Given the description of an element on the screen output the (x, y) to click on. 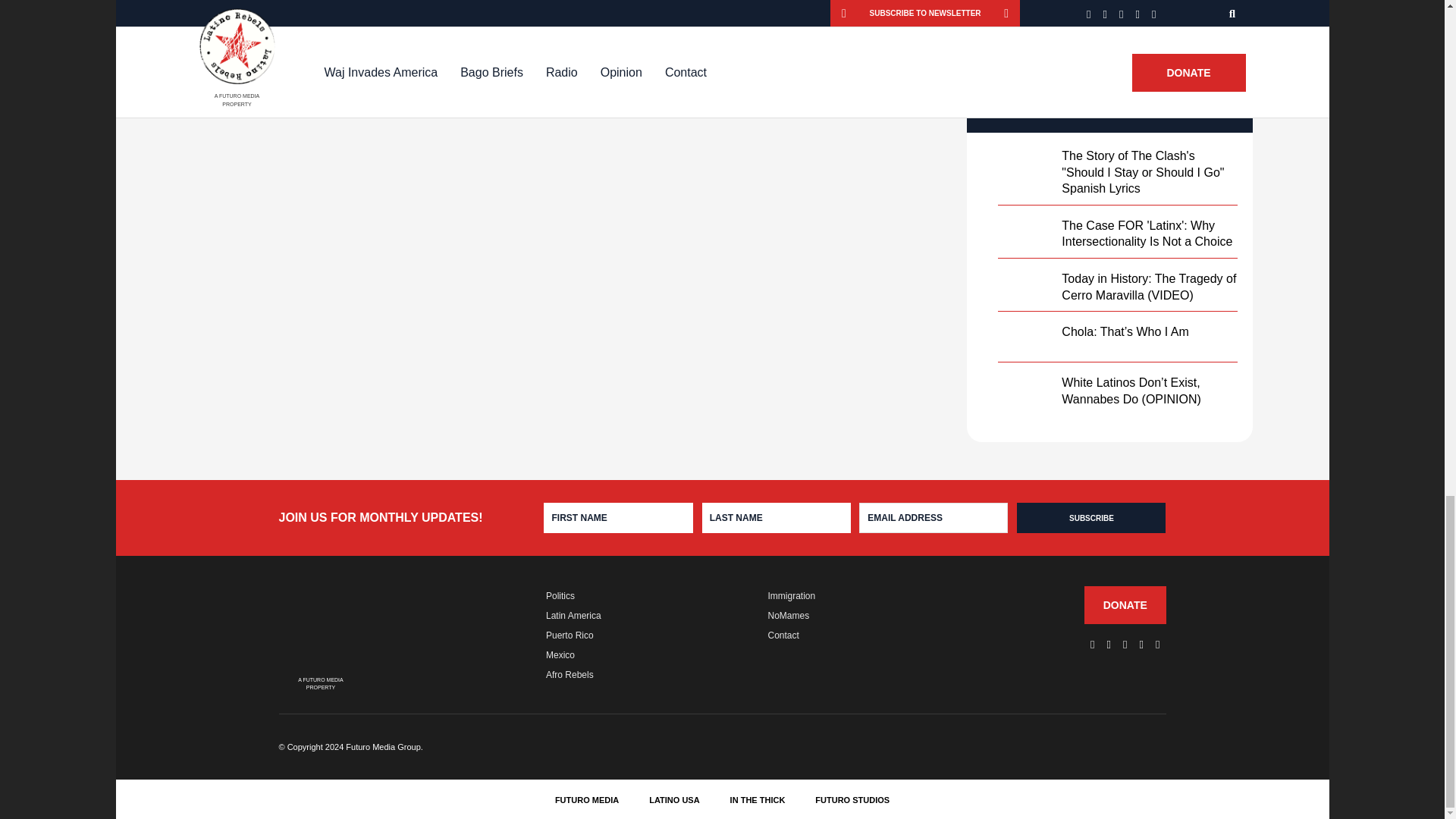
Subscribe (1091, 517)
The Case FOR 'Latinx': Why Intersectionality Is Not a Choice (1146, 233)
